Given the description of an element on the screen output the (x, y) to click on. 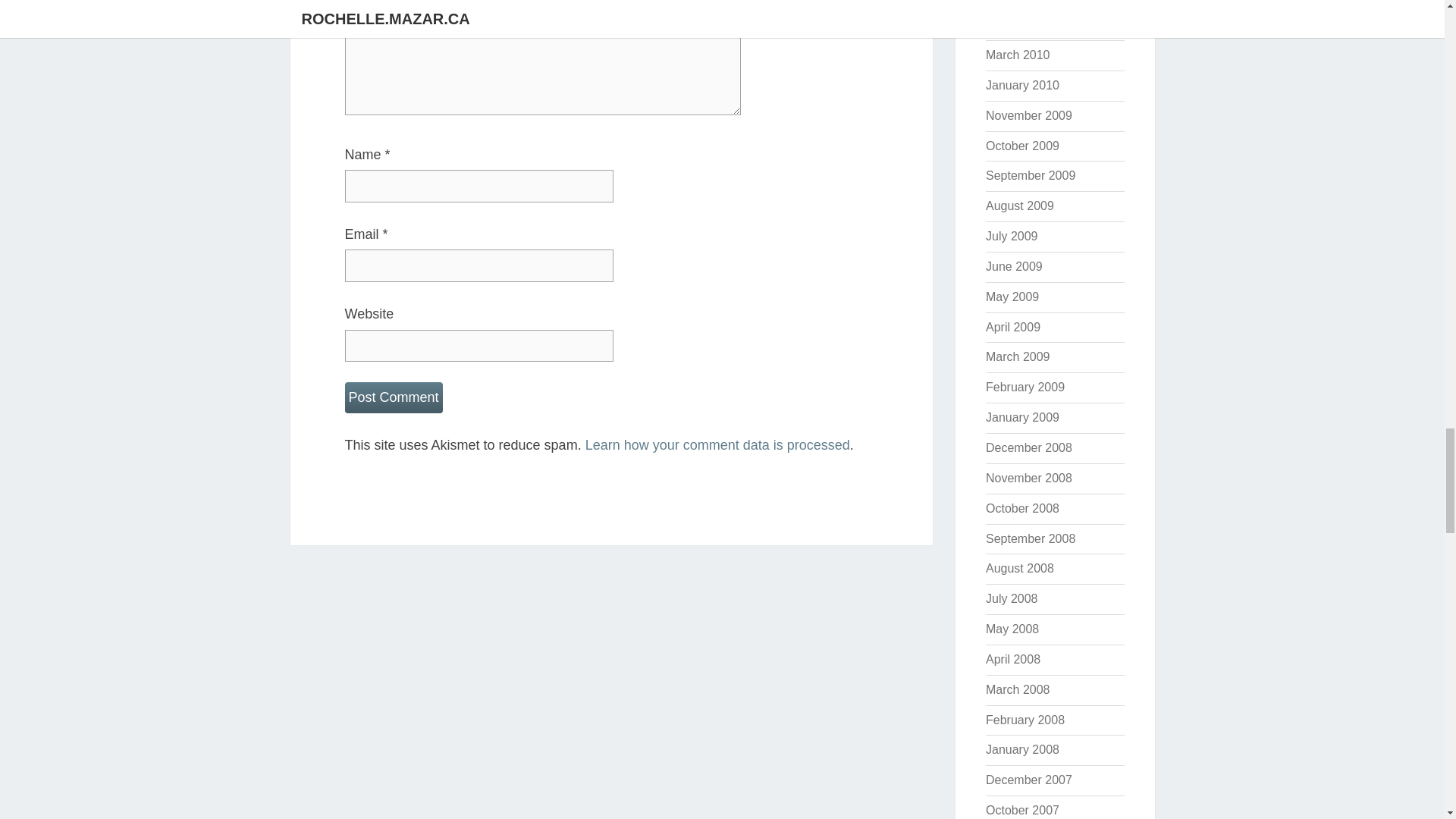
Learn how your comment data is processed (717, 444)
Post Comment (392, 397)
Post Comment (392, 397)
